Given the description of an element on the screen output the (x, y) to click on. 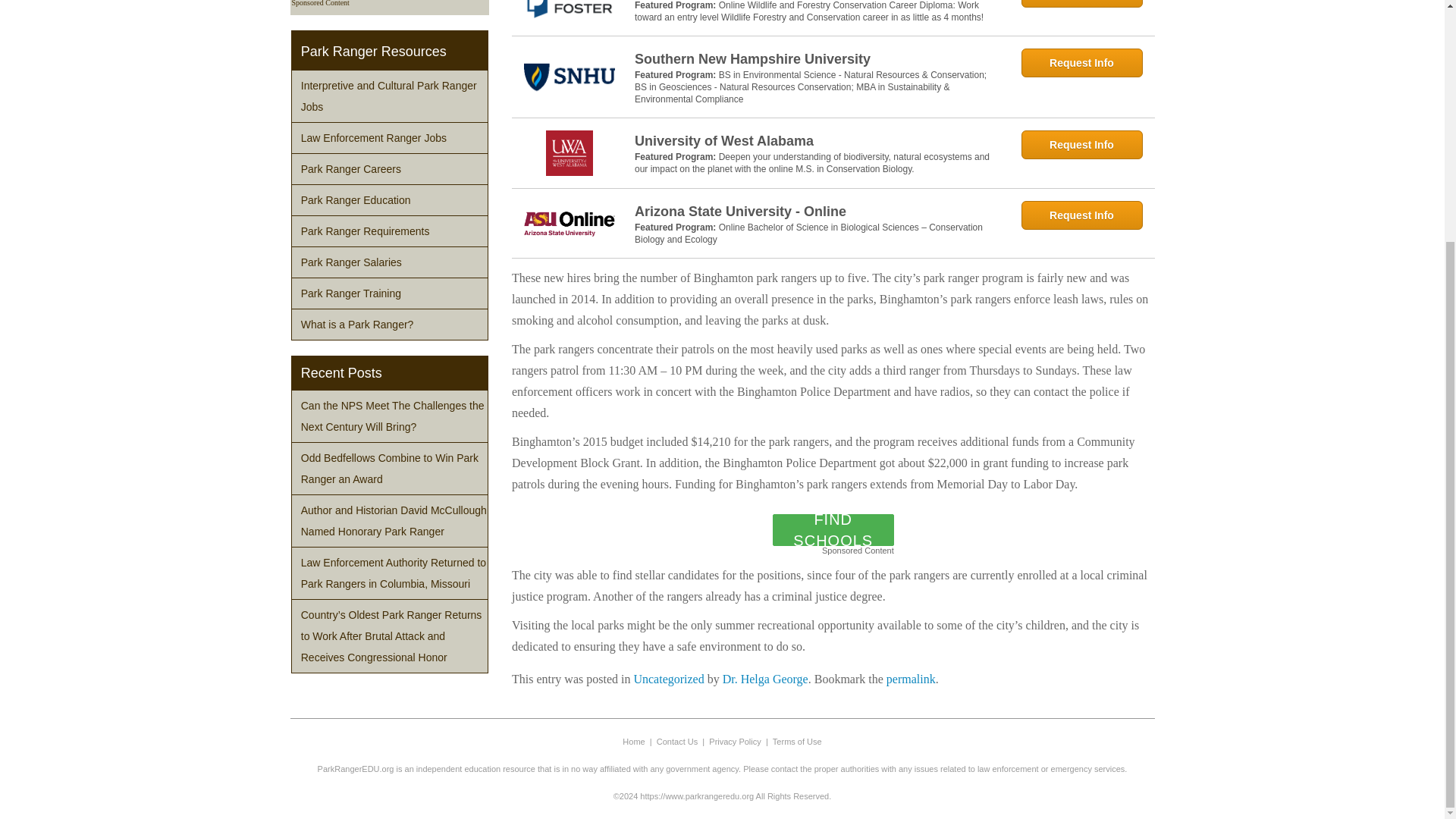
FIND SCHOOLS (833, 530)
Request Info (1080, 3)
Request Info (1080, 144)
Park Ranger Education (389, 200)
permalink (911, 678)
Law Enforcement Ranger Jobs (389, 137)
Park Ranger Requirements (389, 231)
Southern New Hampshire University (817, 58)
Request Info (1080, 215)
Park Ranger Salaries (389, 262)
Interpretive and Cultural Park Ranger Jobs (389, 96)
Arizona State University - Online (817, 210)
Request Info (1080, 62)
University of West Alabama (817, 140)
